Given the description of an element on the screen output the (x, y) to click on. 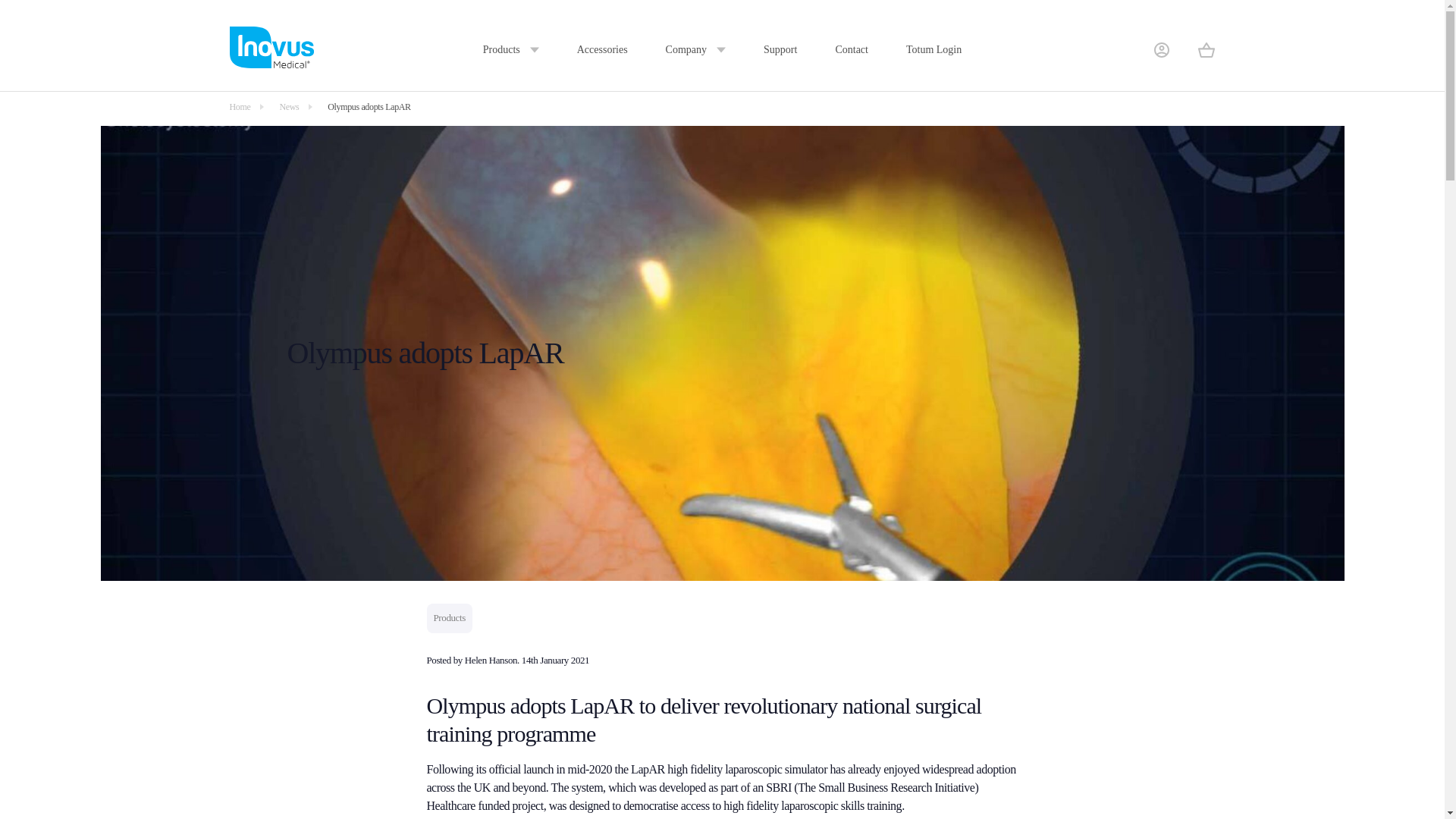
Home (239, 106)
User Account (1161, 49)
General Surgery (711, 4)
Hysteroscopic Simulators (544, 32)
TOTUM (880, 4)
News (679, 4)
Support (779, 50)
Contact (850, 50)
Basic Surgical Skills (532, 62)
Investors (685, 62)
Totum Login (932, 50)
Obstetrics and Gynaecology (738, 32)
Company (695, 50)
Basket (1206, 49)
Laparoscopic Simulators (542, 4)
